Given the description of an element on the screen output the (x, y) to click on. 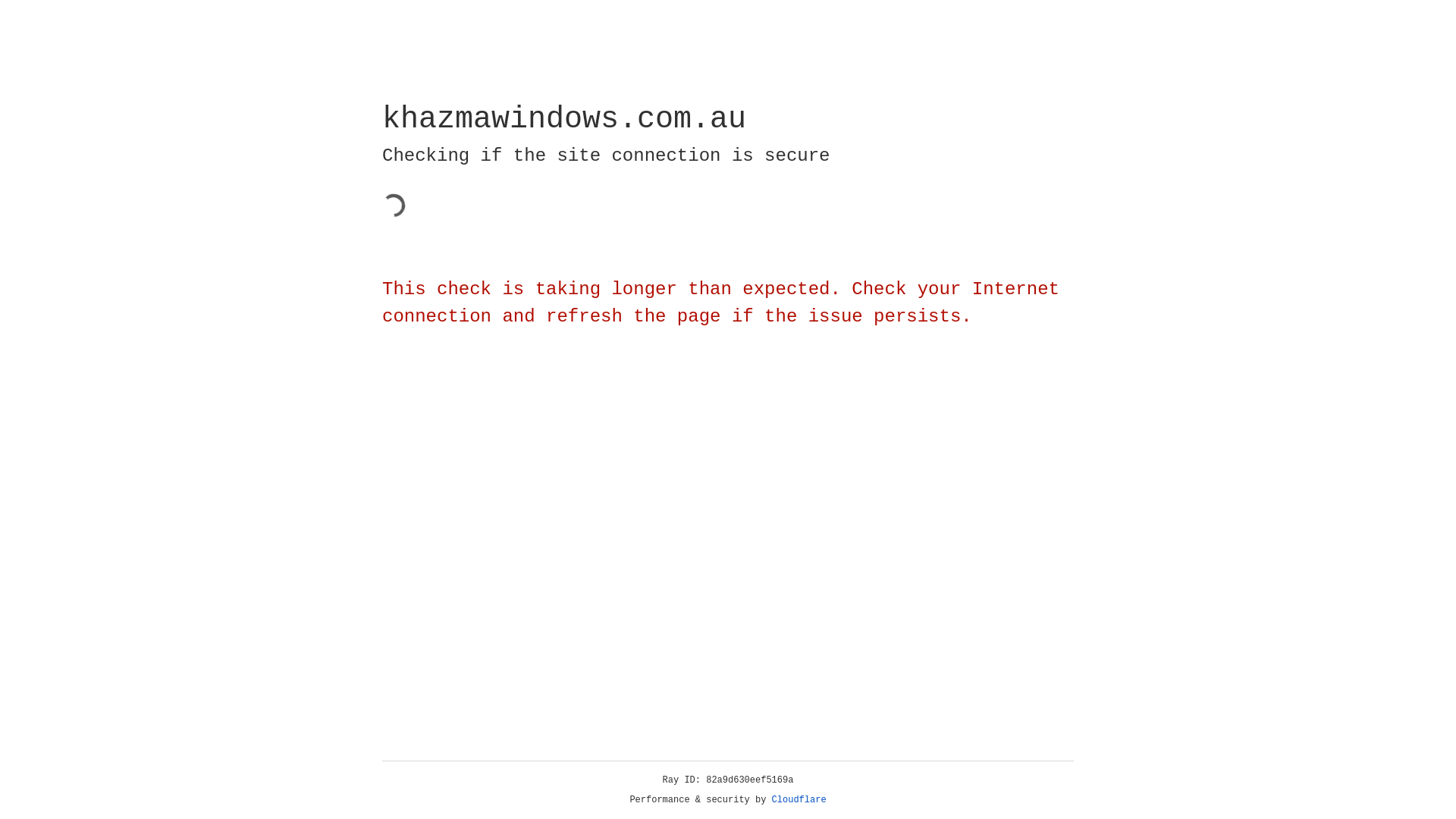
Cloudflare Element type: text (798, 799)
